Given the description of an element on the screen output the (x, y) to click on. 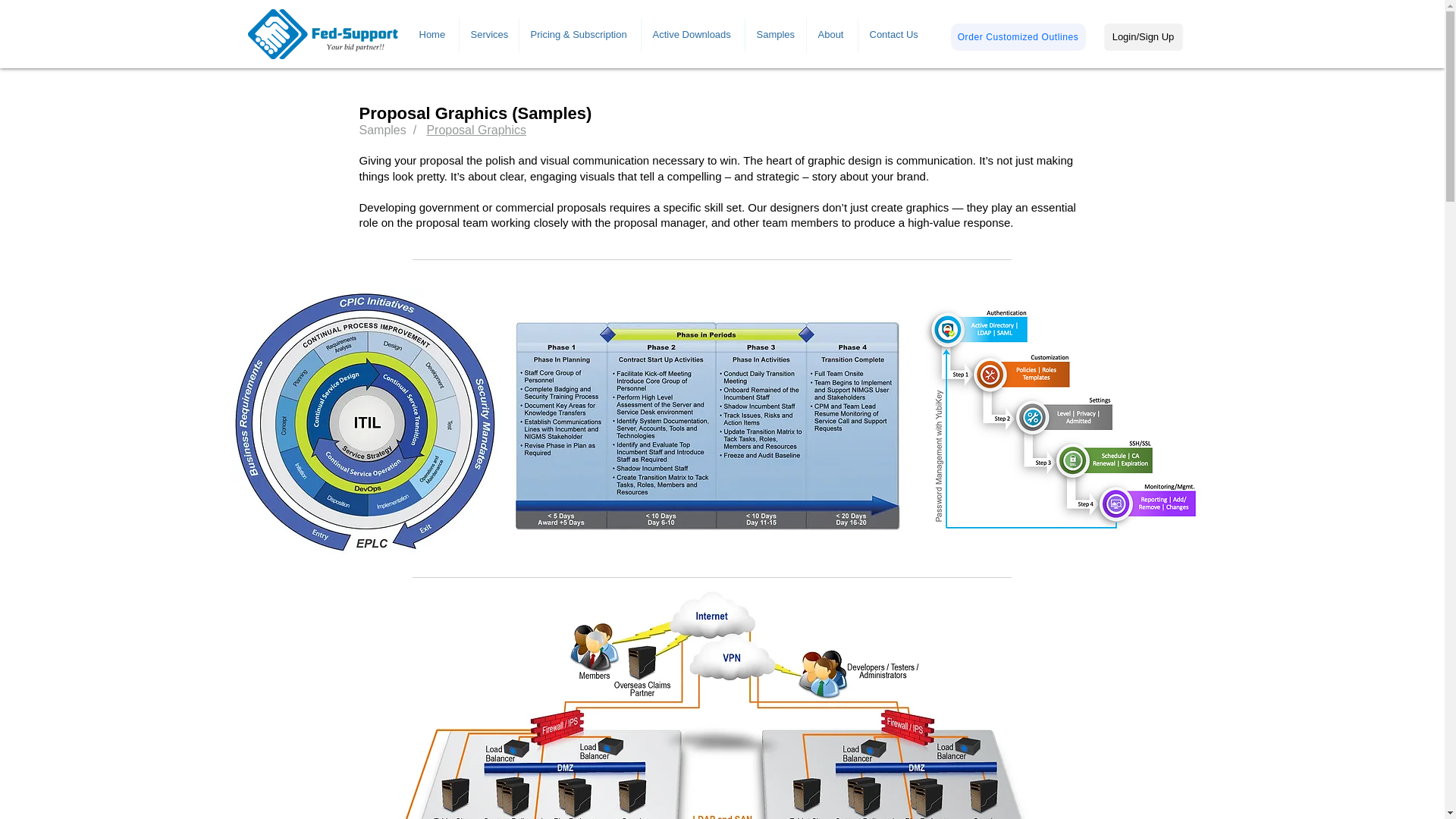
Services (488, 34)
Fed-Support.png (322, 33)
Home (432, 34)
Contact Us (893, 34)
About (831, 34)
Proposal Graphics (475, 129)
Order Customized Outlines (1018, 36)
